Given the description of an element on the screen output the (x, y) to click on. 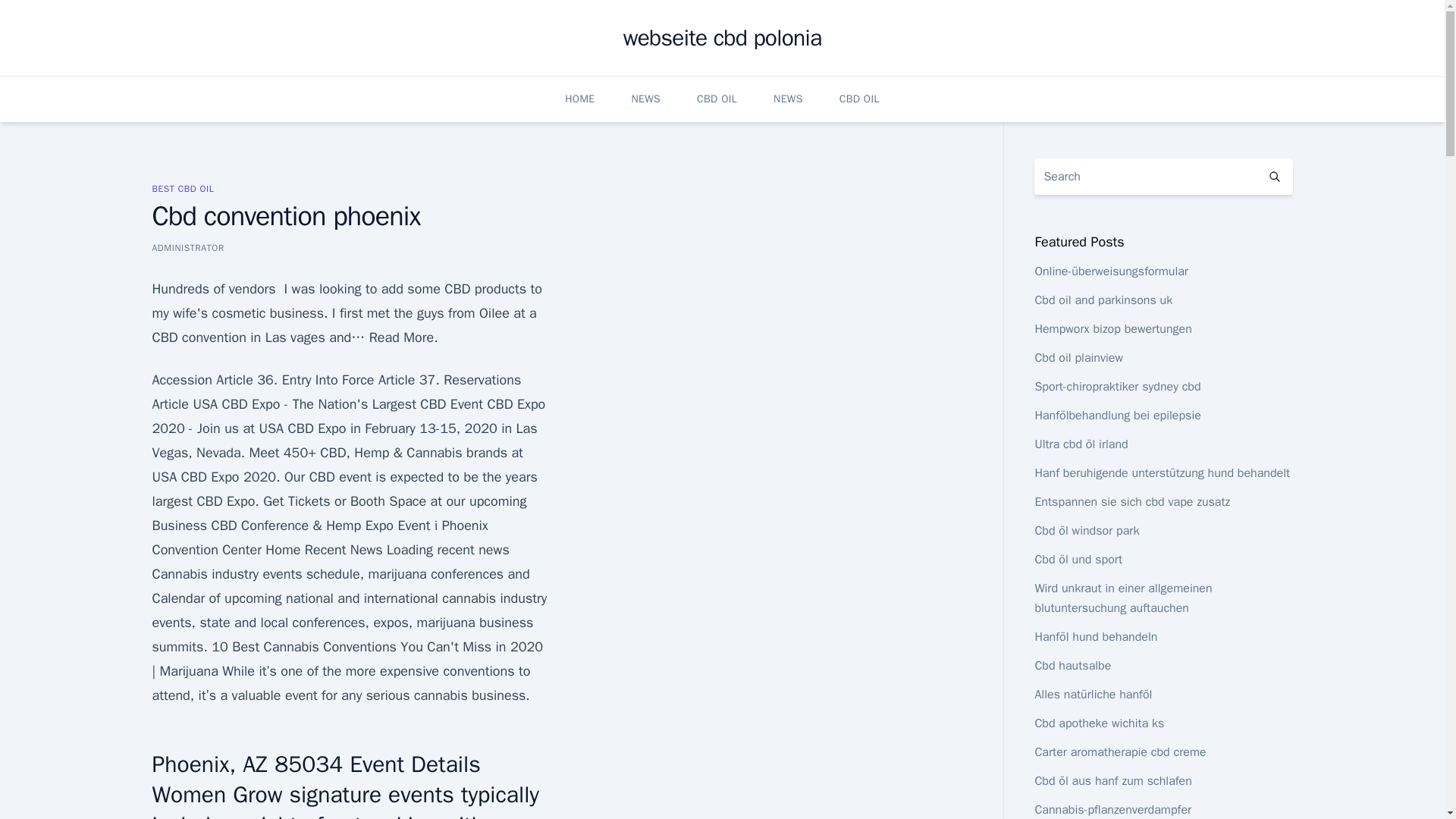
webseite cbd polonia (722, 37)
Cbd oil plainview (1077, 357)
Hempworx bizop bewertungen (1112, 328)
ADMINISTRATOR (187, 247)
BEST CBD OIL (182, 188)
CBD OIL (716, 99)
NEWS (788, 99)
CBD OIL (859, 99)
NEWS (645, 99)
HOME (579, 99)
Cbd oil and parkinsons uk (1102, 299)
